Given the description of an element on the screen output the (x, y) to click on. 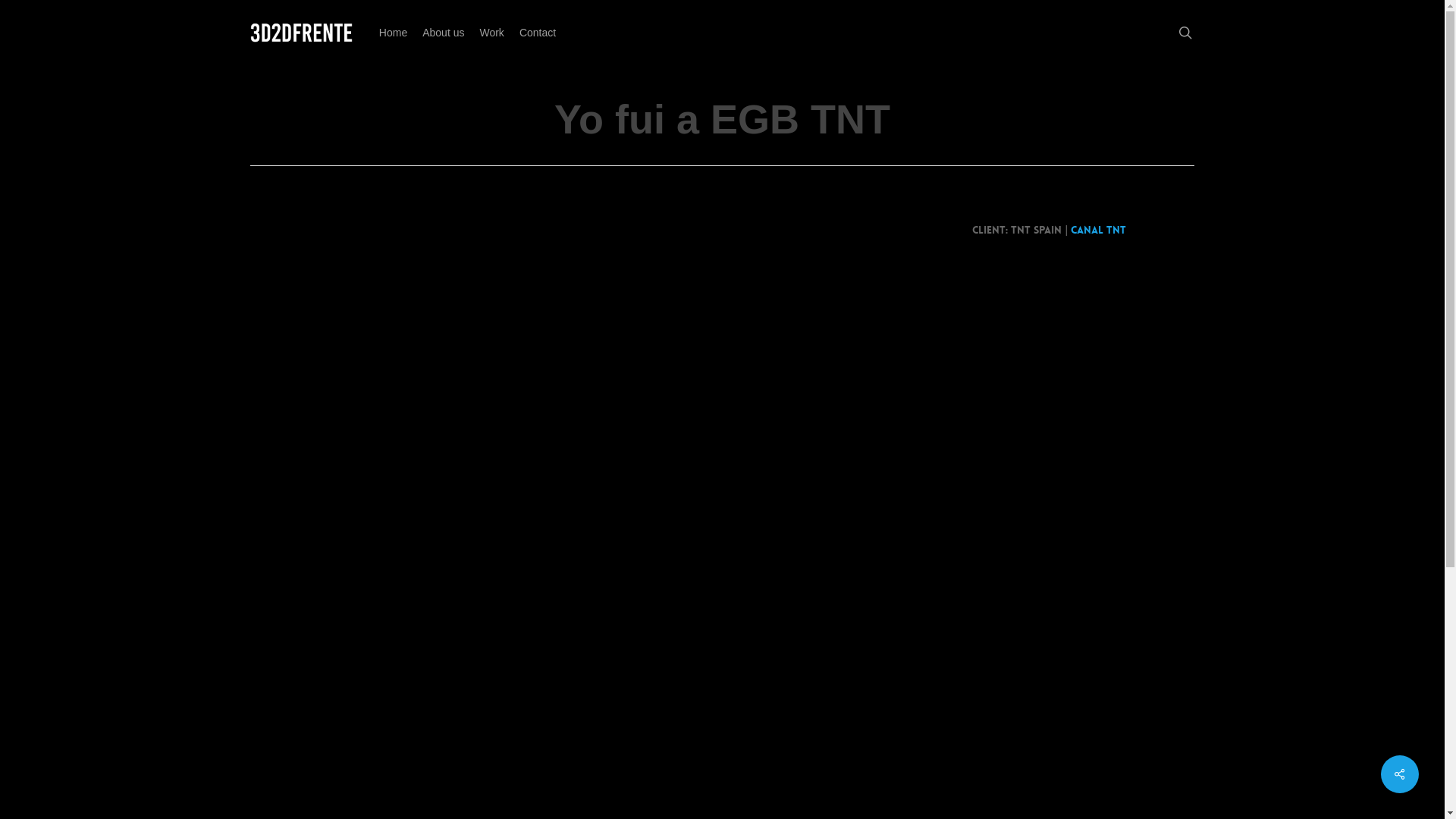
Home Element type: text (392, 32)
About us Element type: text (442, 32)
Contact Element type: text (537, 32)
search Element type: text (1185, 32)
Teaser Yo fui a EGB  TNT Element type: hover (595, 393)
Canal TNT Element type: text (1098, 229)
Work Element type: text (491, 32)
